Given the description of an element on the screen output the (x, y) to click on. 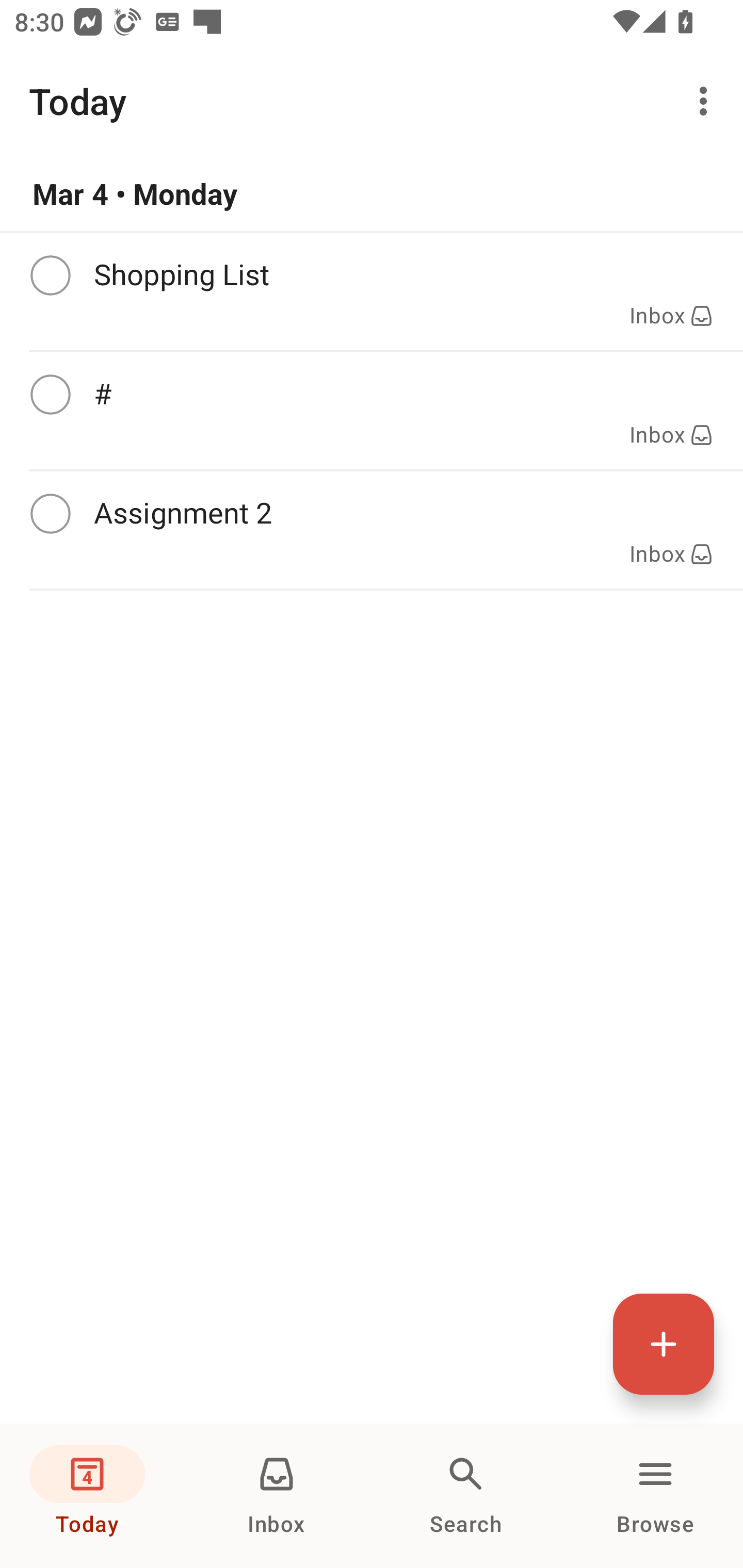
Today More options (371, 100)
More options (706, 101)
Mar 4 • Monday (371, 194)
Complete Shopping List Inbox (371, 291)
Complete (50, 275)
Complete # Inbox (371, 410)
Complete (50, 395)
Complete Assignment 2 Inbox (371, 529)
Complete (50, 514)
Quick add (663, 1343)
Inbox (276, 1495)
Search (465, 1495)
Browse (655, 1495)
